Given the description of an element on the screen output the (x, y) to click on. 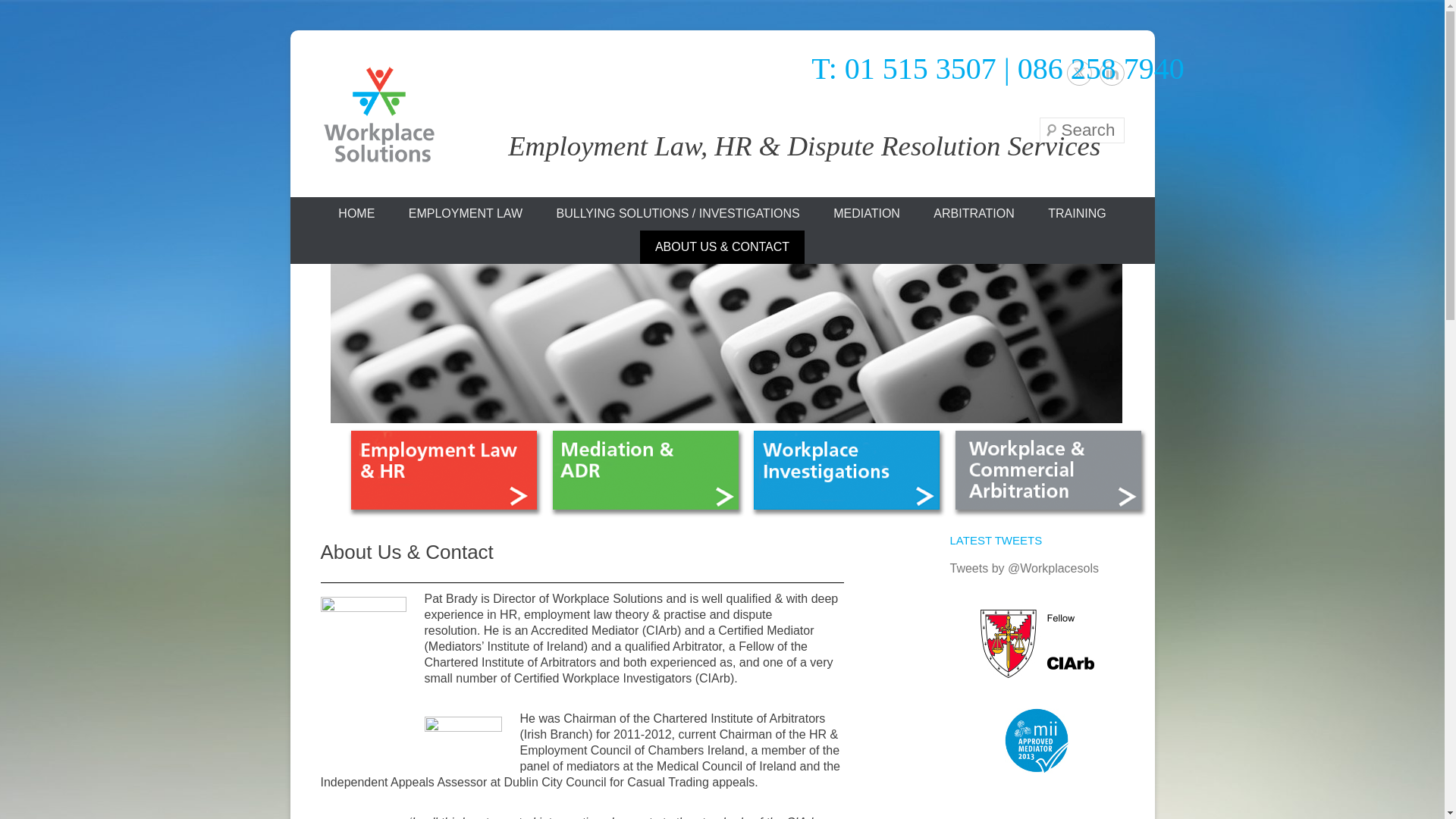
EMPLOYMENT LAW (465, 213)
LinkedIn (1111, 72)
MEDIATION (866, 213)
ARBITRATION (973, 213)
Twitter (1077, 72)
TRAINING (1076, 213)
Twitter (1077, 72)
LinkedIn (1111, 72)
Workplace Solutions (507, 192)
